Given the description of an element on the screen output the (x, y) to click on. 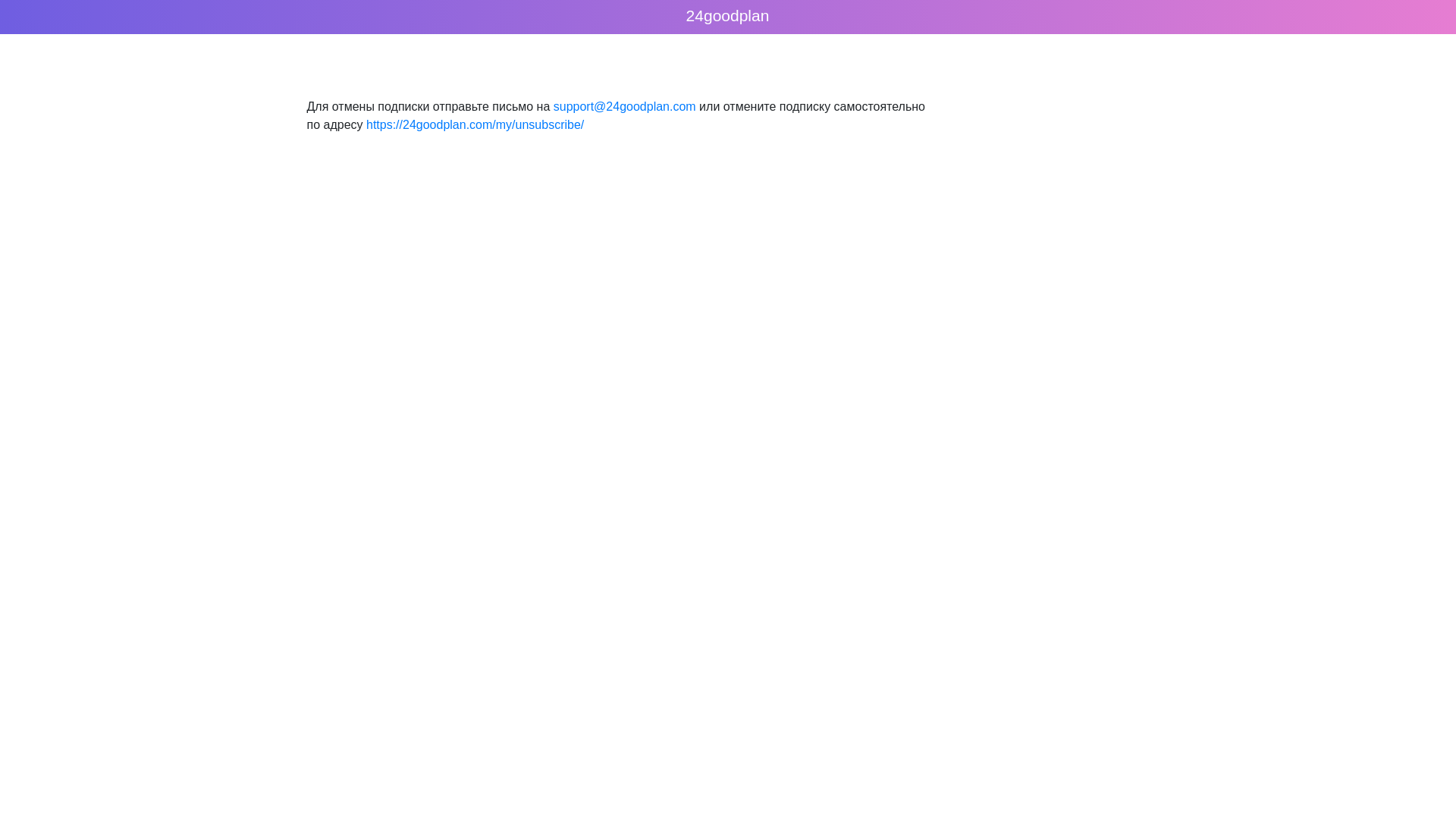
https://24goodplan.com/my/unsubscribe/ Element type: text (474, 124)
support@24goodplan.com Element type: text (624, 106)
24goodplan Element type: text (727, 15)
